Given the description of an element on the screen output the (x, y) to click on. 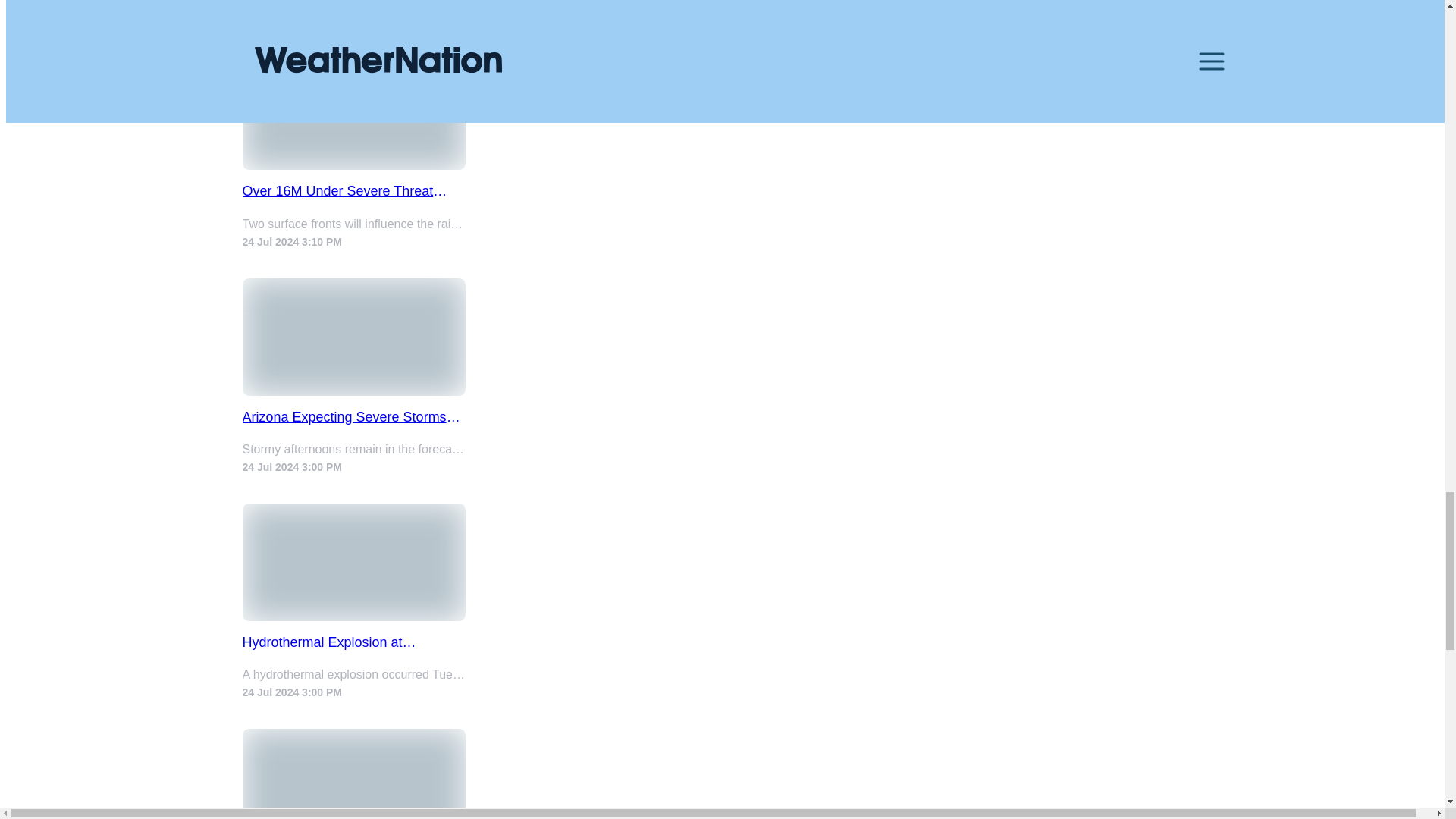
Hydrothermal Explosion at Yellowstone National Park (354, 642)
Arizona Expecting Severe Storms Wednesday (354, 417)
Over 16M Under Severe Threat Thursday (354, 191)
